Given the description of an element on the screen output the (x, y) to click on. 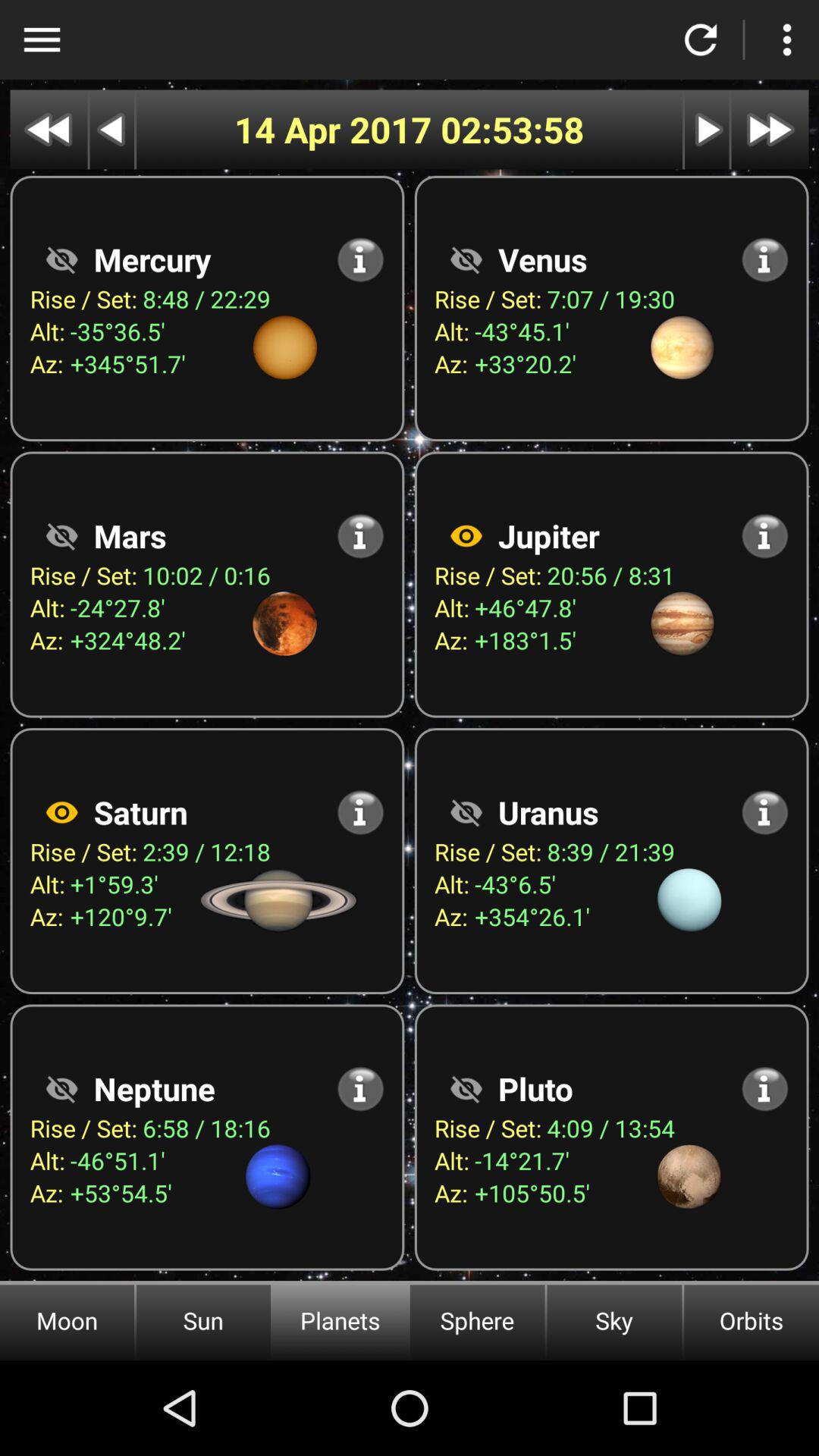
refresh page (700, 39)
